Given the description of an element on the screen output the (x, y) to click on. 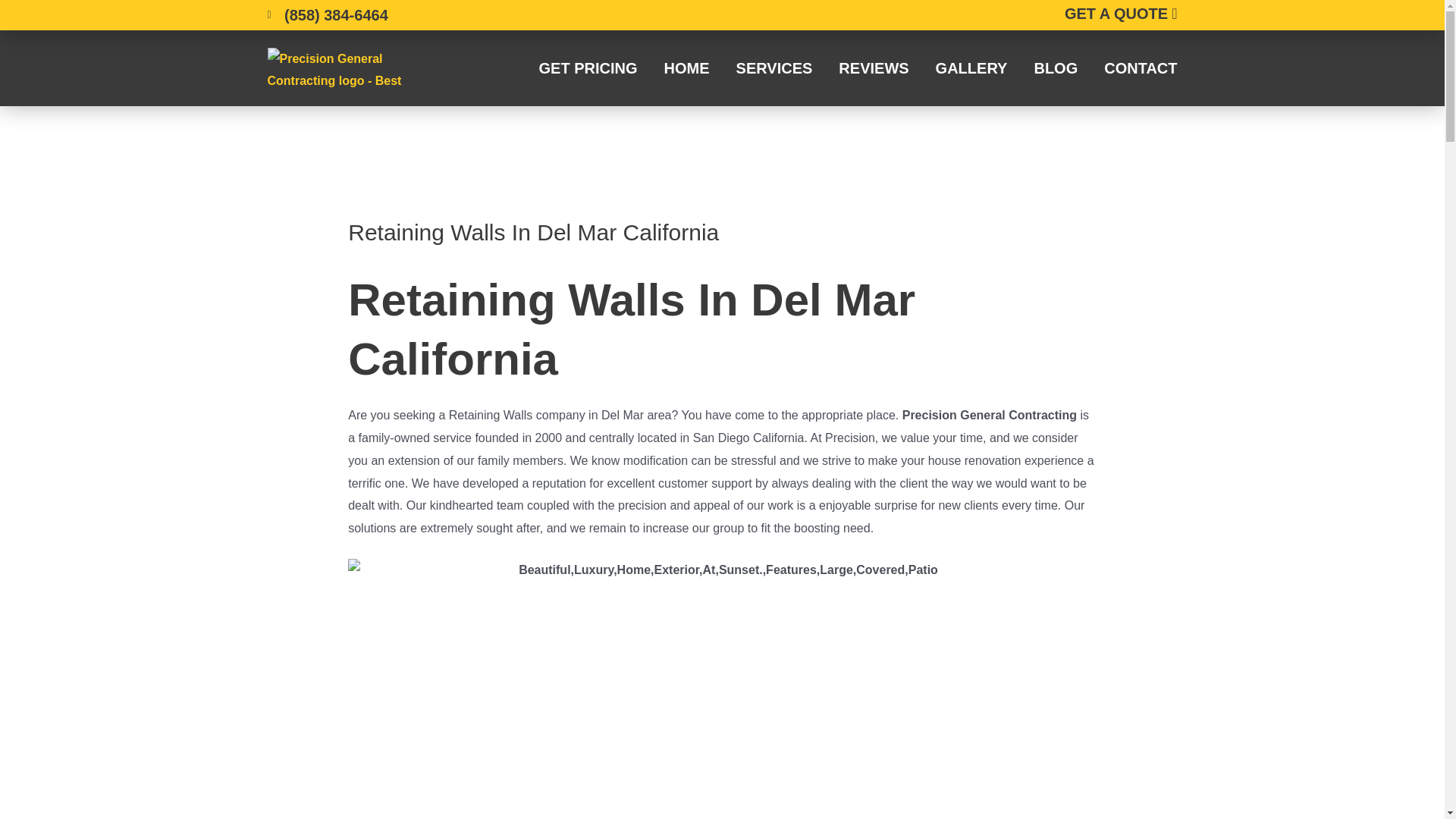
HOME (686, 67)
BLOG (1055, 67)
GET A QUOTE (1120, 13)
GALLERY (971, 67)
GET PRICING (587, 67)
REVIEWS (873, 67)
CONTACT (1139, 67)
SERVICES (774, 67)
